Given the description of an element on the screen output the (x, y) to click on. 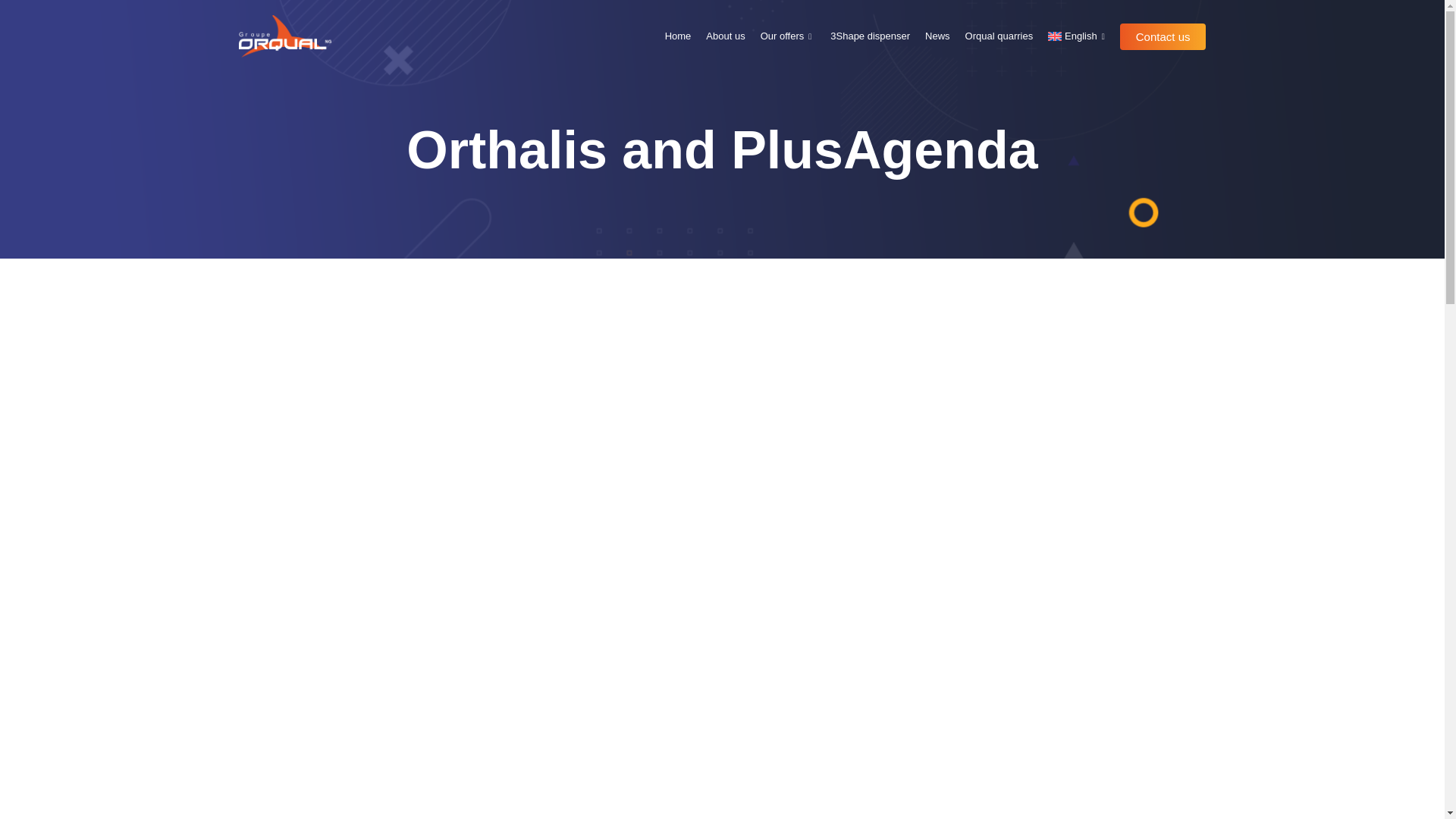
Contact us (1163, 36)
3Shape dispenser (869, 36)
About us (725, 36)
Our offers (788, 36)
Orqual quarries (999, 36)
News (937, 36)
Home (678, 36)
English (1078, 36)
English (1078, 36)
